Given the description of an element on the screen output the (x, y) to click on. 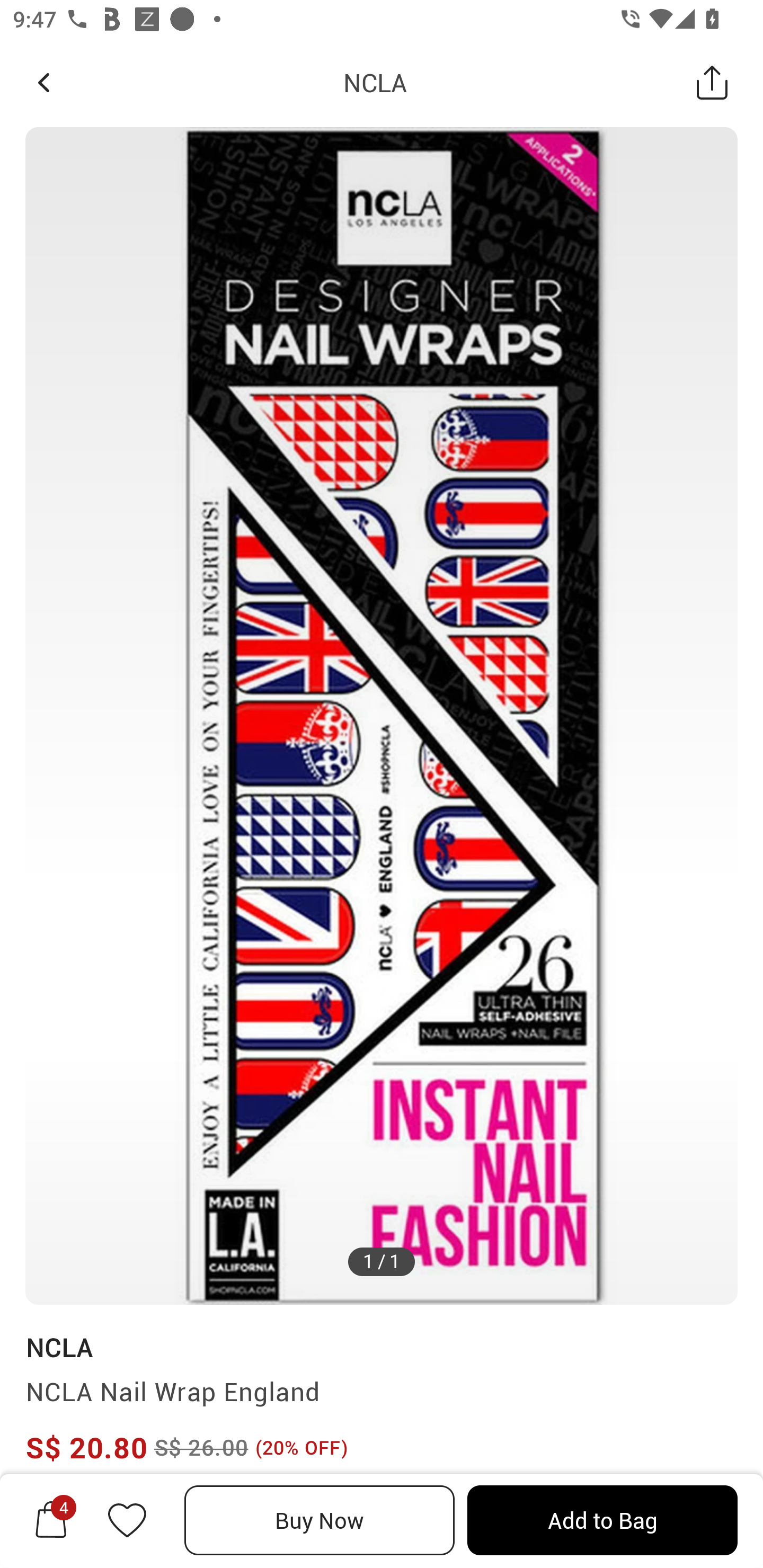
NCLA (375, 82)
Share this Product (711, 82)
NCLA (59, 1346)
Buy Now (319, 1519)
Add to Bag (601, 1519)
4 (50, 1520)
